Given the description of an element on the screen output the (x, y) to click on. 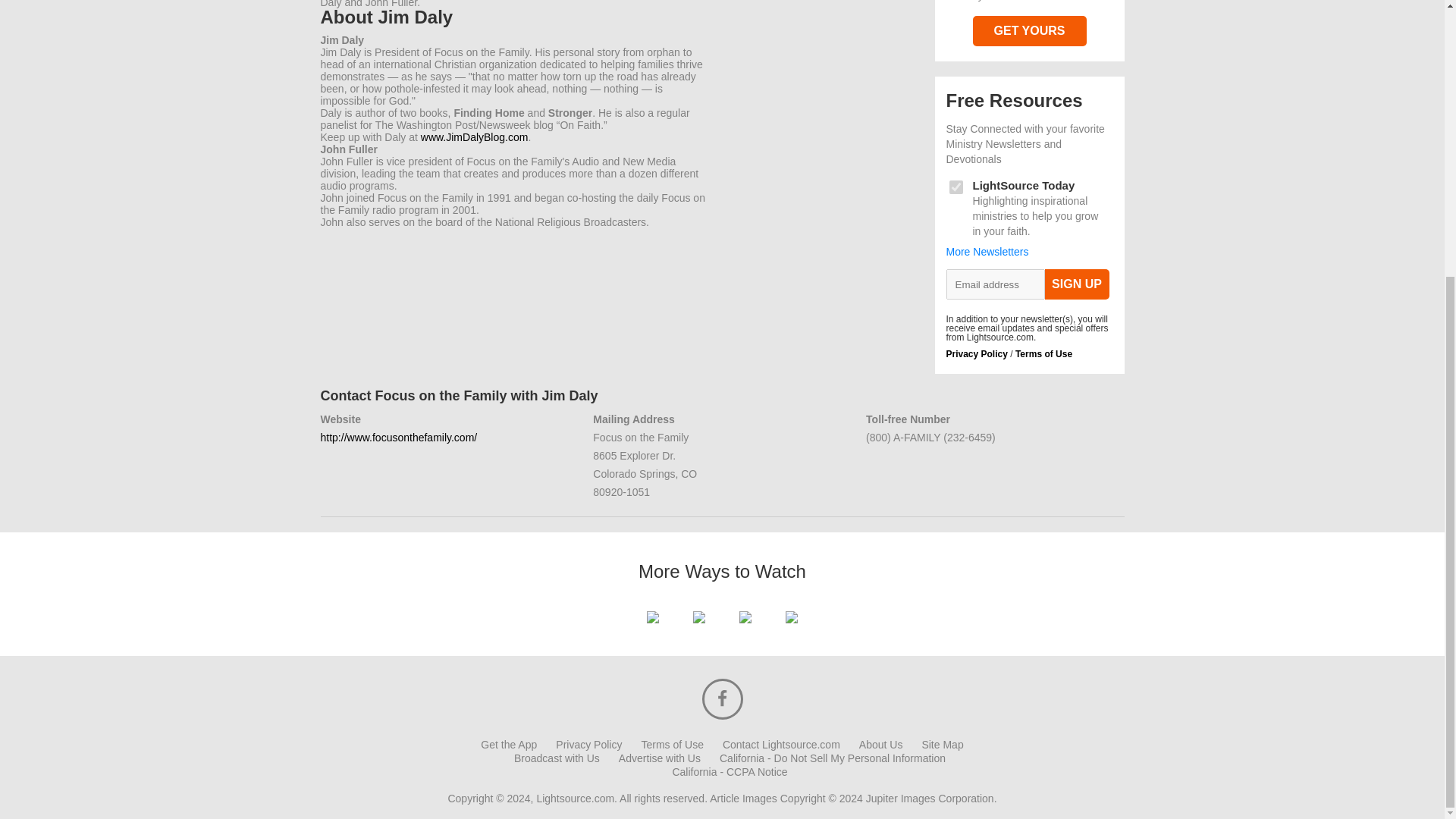
SIGN UP (1077, 284)
Terms of Use (1042, 353)
More Newsletters (987, 251)
www.JimDalyBlog.com (474, 137)
Privacy Policy (976, 353)
Terms of Use (671, 744)
Get the App (508, 744)
7291 (955, 187)
Privacy Policy (588, 744)
GET YOURS (1029, 30)
